Given the description of an element on the screen output the (x, y) to click on. 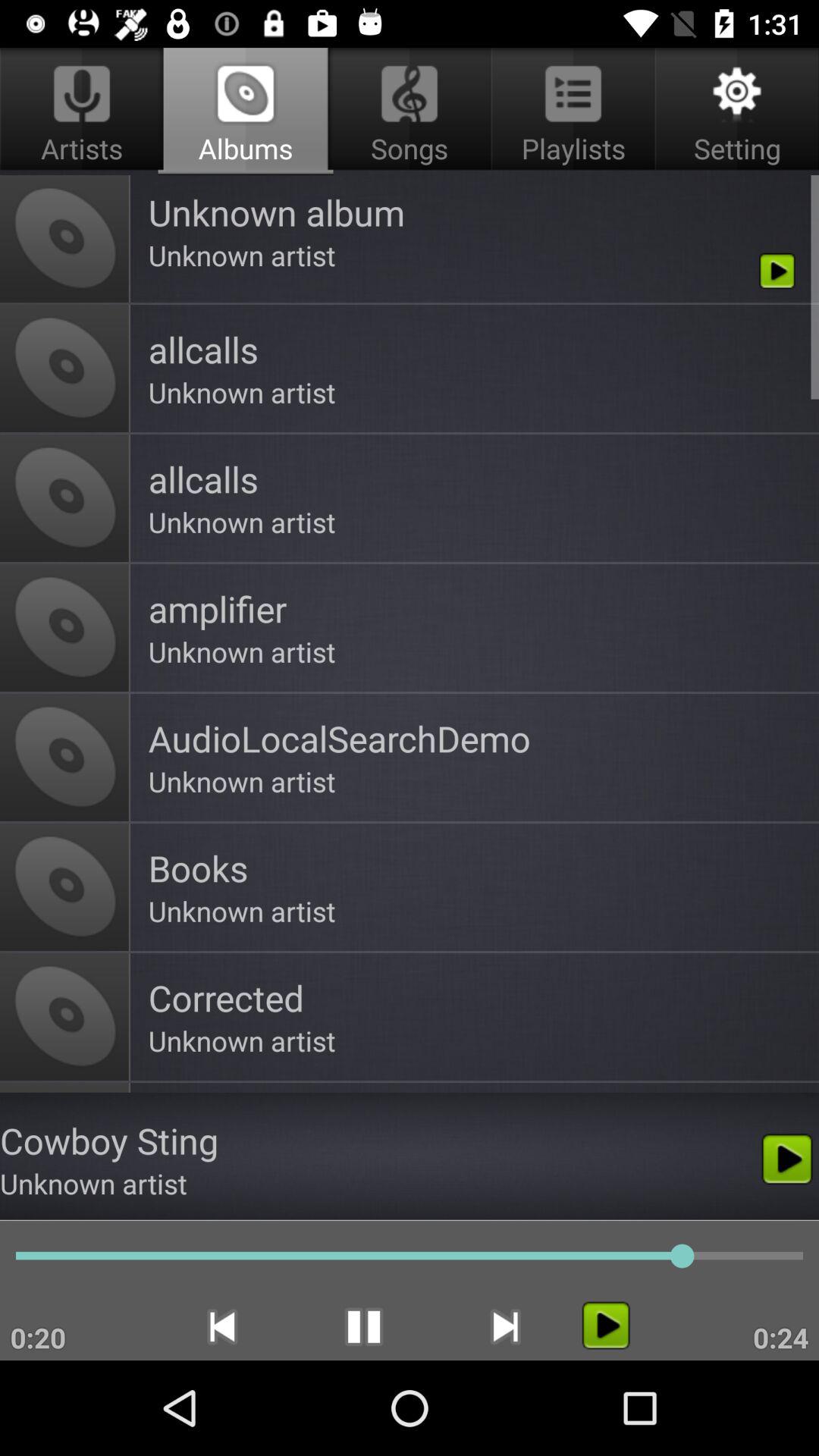
select the app to the right of artists (409, 111)
